Given the description of an element on the screen output the (x, y) to click on. 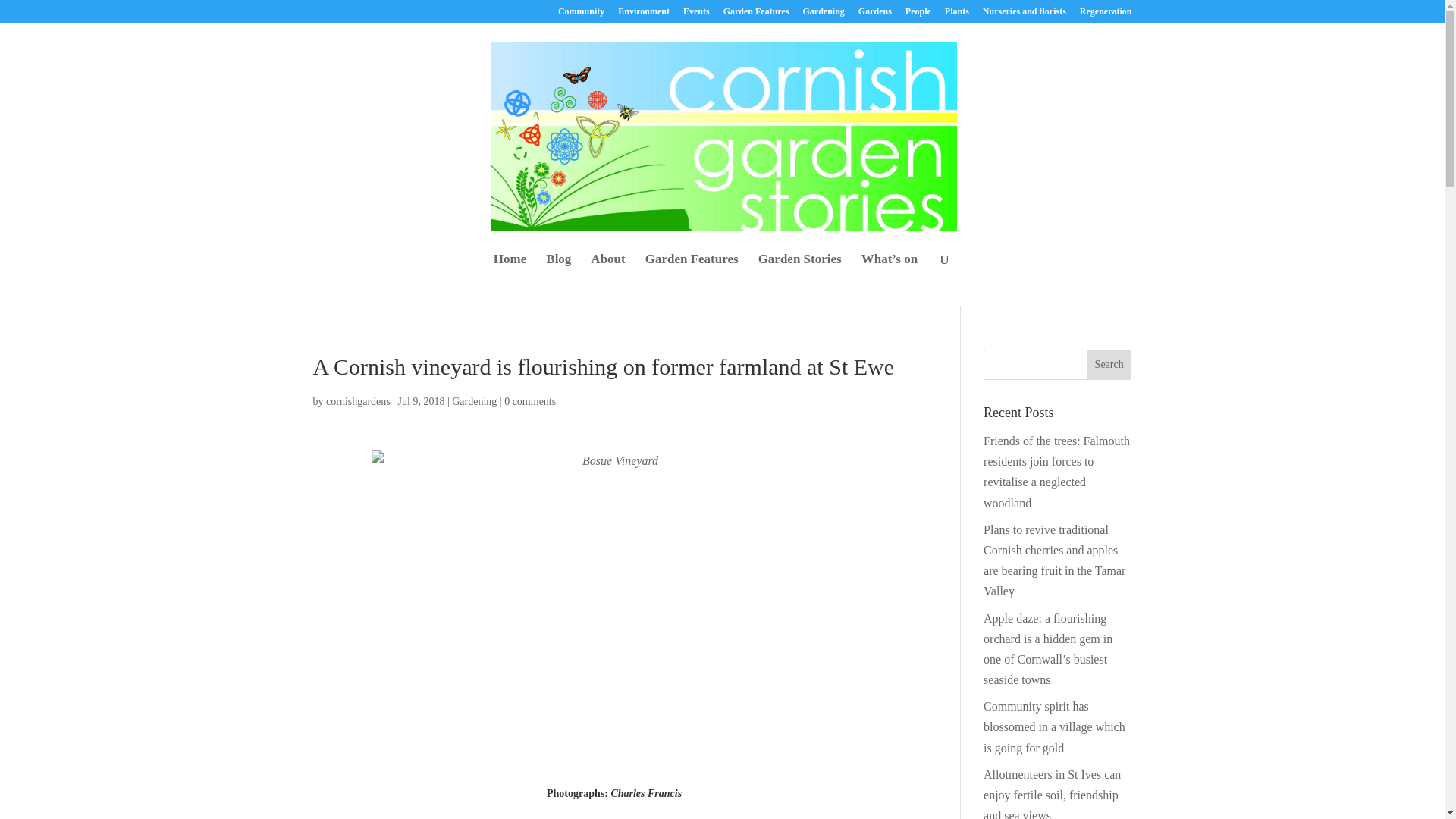
Garden Features (691, 279)
Regeneration (1106, 14)
Gardening (823, 14)
Community (580, 14)
Charles Francis (645, 793)
Search (1109, 364)
Plants (956, 14)
Environment (643, 14)
